Given the description of an element on the screen output the (x, y) to click on. 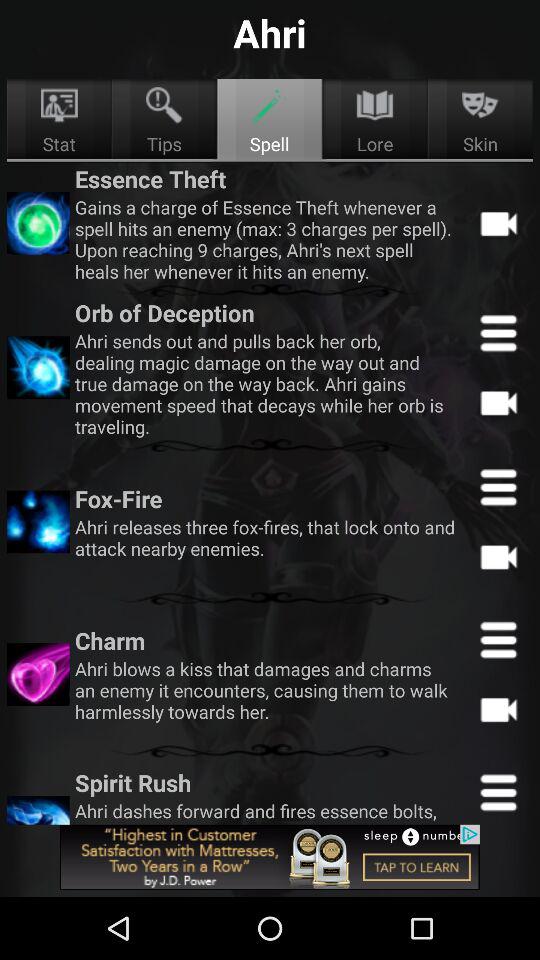
open the dropdown menu (498, 332)
